Given the description of an element on the screen output the (x, y) to click on. 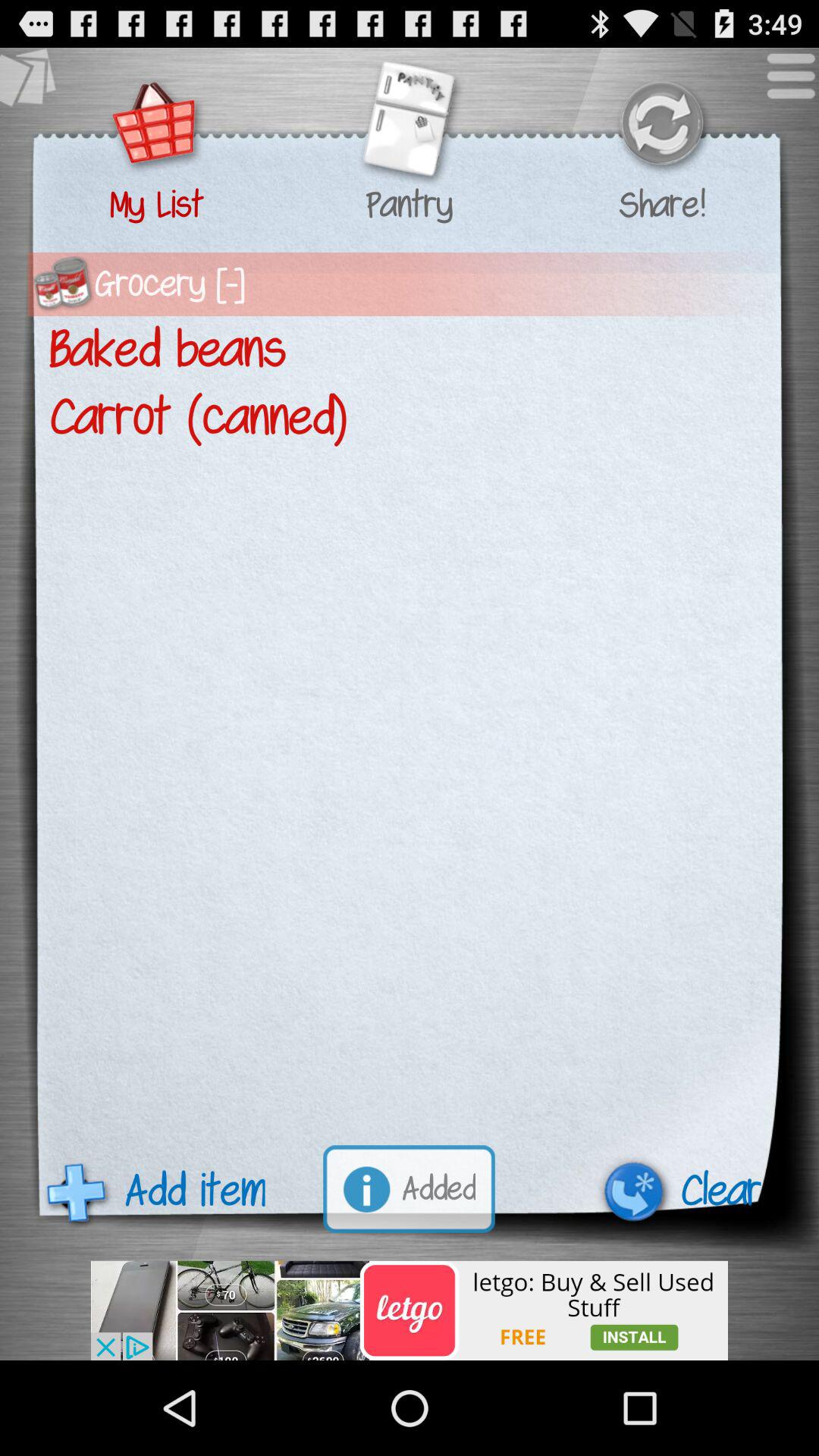
visit advertised website (409, 1310)
